Given the description of an element on the screen output the (x, y) to click on. 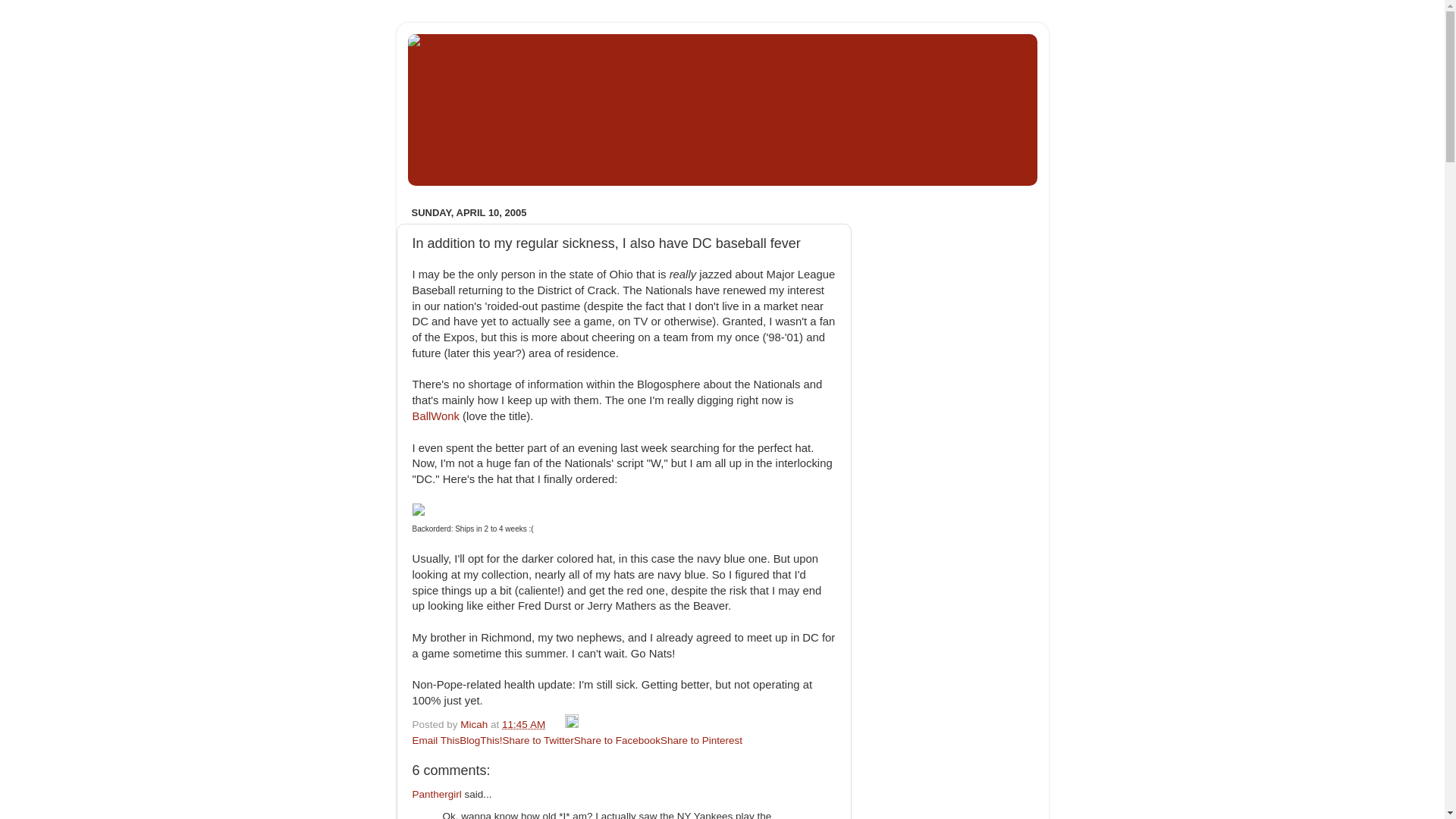
BlogThis! (481, 740)
BlogThis! (481, 740)
Edit Post (571, 724)
Email Post (556, 724)
Micah (475, 724)
BallWonk (436, 416)
permanent link (523, 724)
Share to Facebook (617, 740)
Share to Pinterest (701, 740)
Email This (436, 740)
author profile (475, 724)
Share to Twitter (537, 740)
Share to Pinterest (701, 740)
11:45 AM (523, 724)
Share to Facebook (617, 740)
